Given the description of an element on the screen output the (x, y) to click on. 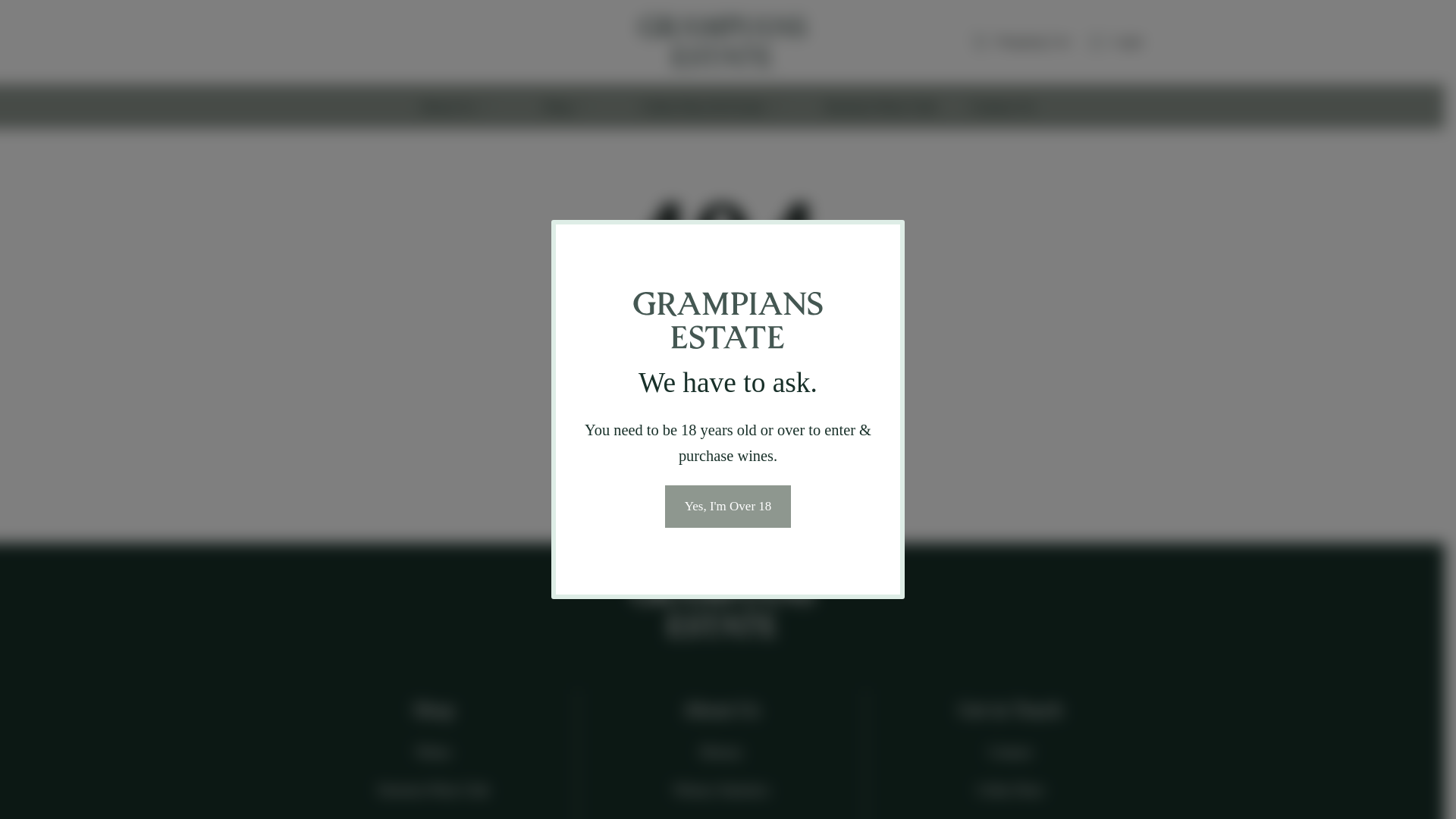
Return to the homepage Element type: text (721, 410)
Cellar Door & Events Element type: text (710, 105)
Contact Element type: text (1010, 751)
Winery Statistics Element type: text (721, 790)
Yes, I'm Over 18 Element type: text (727, 506)
History Element type: text (721, 751)
Streeton Wine Club Element type: text (880, 105)
Streeton Wine Club Element type: text (433, 790)
Contact Us Element type: text (1002, 105)
Shop Element type: text (565, 105)
Cellar Door Element type: text (1010, 790)
About Us Element type: text (454, 105)
Wines Element type: text (433, 751)
Grampians Estate Logo Element type: hover (721, 41)
Shopping Cart Element type: text (1018, 41)
Grampians Estate Logo Element type: hover (721, 609)
Login Element type: text (1113, 41)
